Given the description of an element on the screen output the (x, y) to click on. 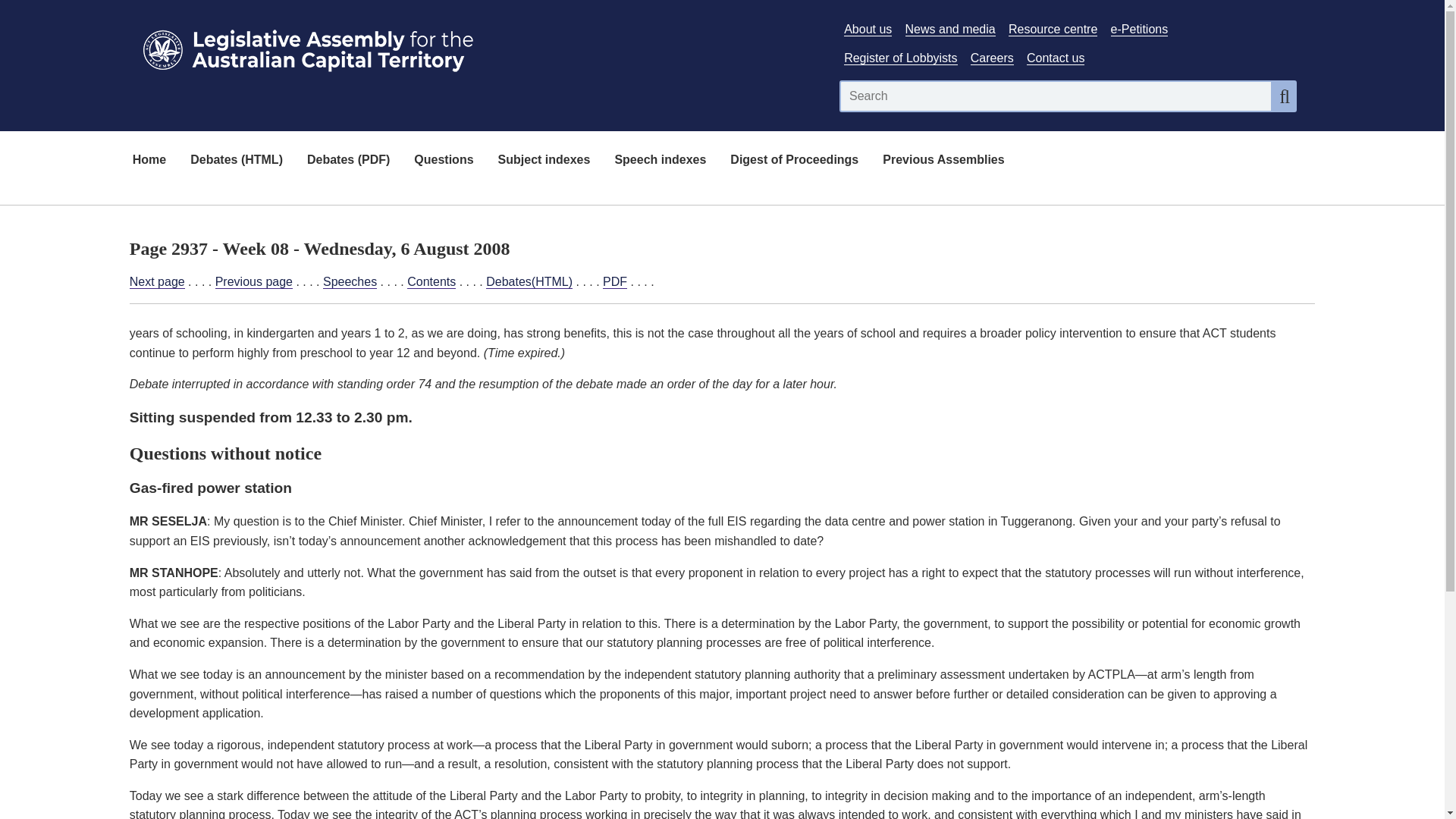
Careers (992, 58)
Register of Lobbyists (900, 58)
Link to About Us (867, 29)
Digest of Proceedings (793, 160)
Resource centre (1053, 29)
Link to Contact Us (1055, 58)
Contact us (1055, 58)
Search input field (1056, 96)
Contents (431, 282)
Next page (156, 282)
News and media (950, 29)
PDF (614, 282)
Speeches (350, 282)
e-Petitions (1139, 29)
Link to Resource centre (1053, 29)
